Given the description of an element on the screen output the (x, y) to click on. 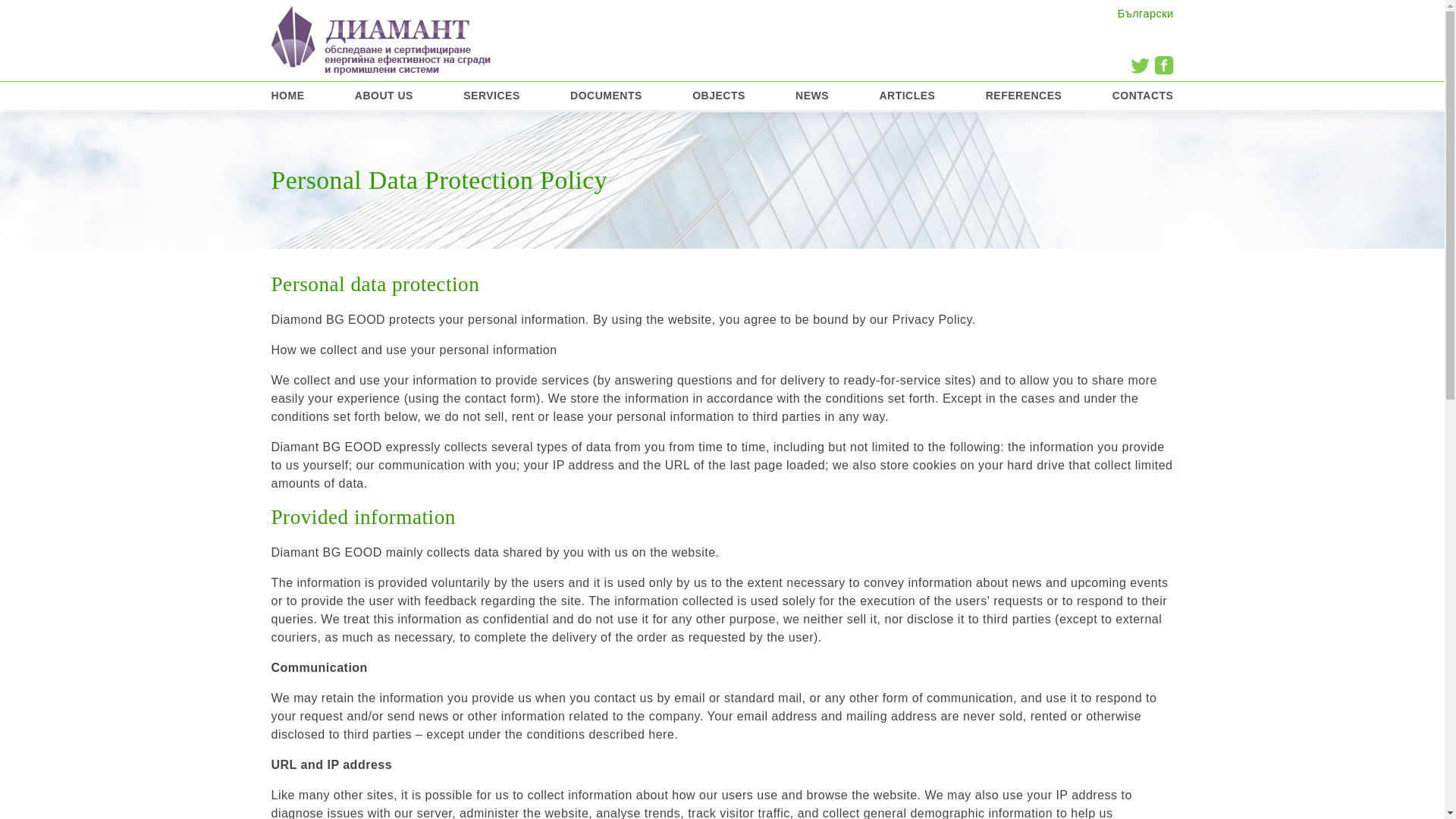
SERVICES (491, 95)
NEWS (811, 95)
DOCUMENTS (606, 95)
HOME (287, 95)
CONTACTS (1142, 95)
ABOUT US (384, 95)
ARTICLES (906, 95)
OBJECTS (719, 95)
REFERENCES (1023, 95)
